Given the description of an element on the screen output the (x, y) to click on. 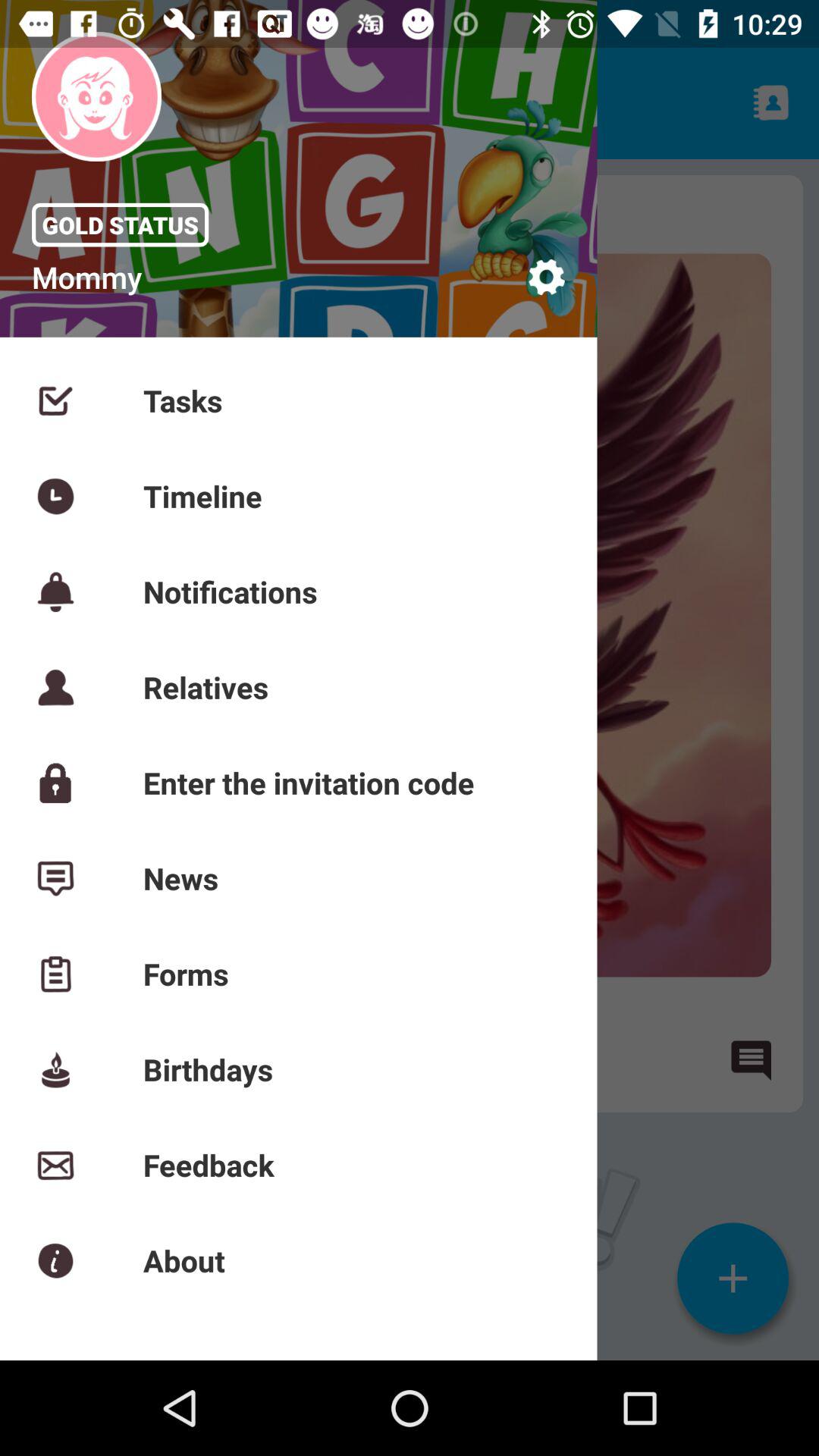
click the image above gold status at top left of the page (96, 96)
click the button gold status on the web page (119, 225)
click the birthdays option (71, 1059)
